Given the description of an element on the screen output the (x, y) to click on. 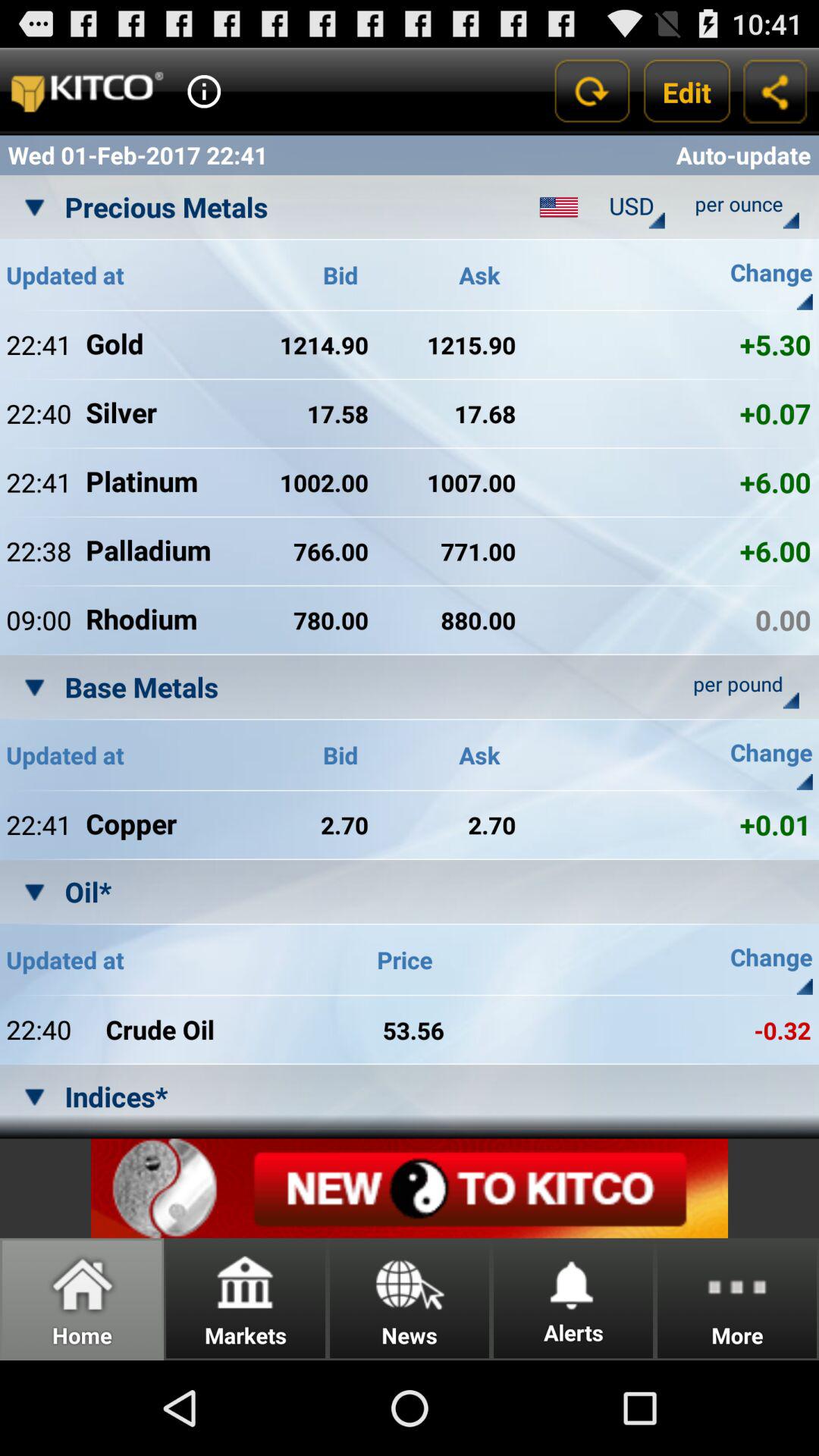
go to new to kitco (409, 1188)
